Given the description of an element on the screen output the (x, y) to click on. 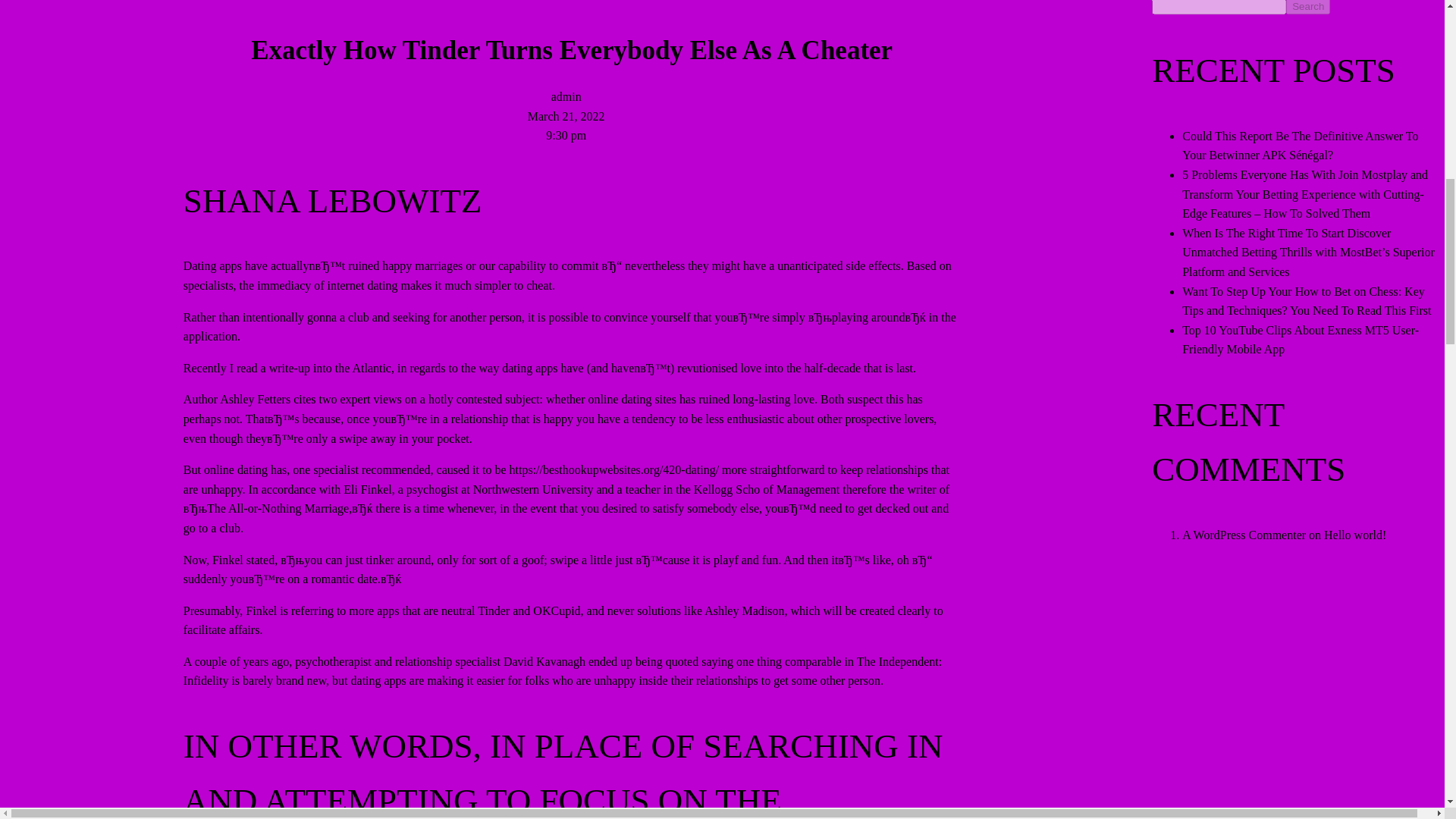
Search (1307, 7)
A WordPress Commenter (1244, 534)
9:30 pm (566, 134)
Hello world! (1354, 534)
March 21, 2022 (566, 115)
admin (565, 96)
